Given the description of an element on the screen output the (x, y) to click on. 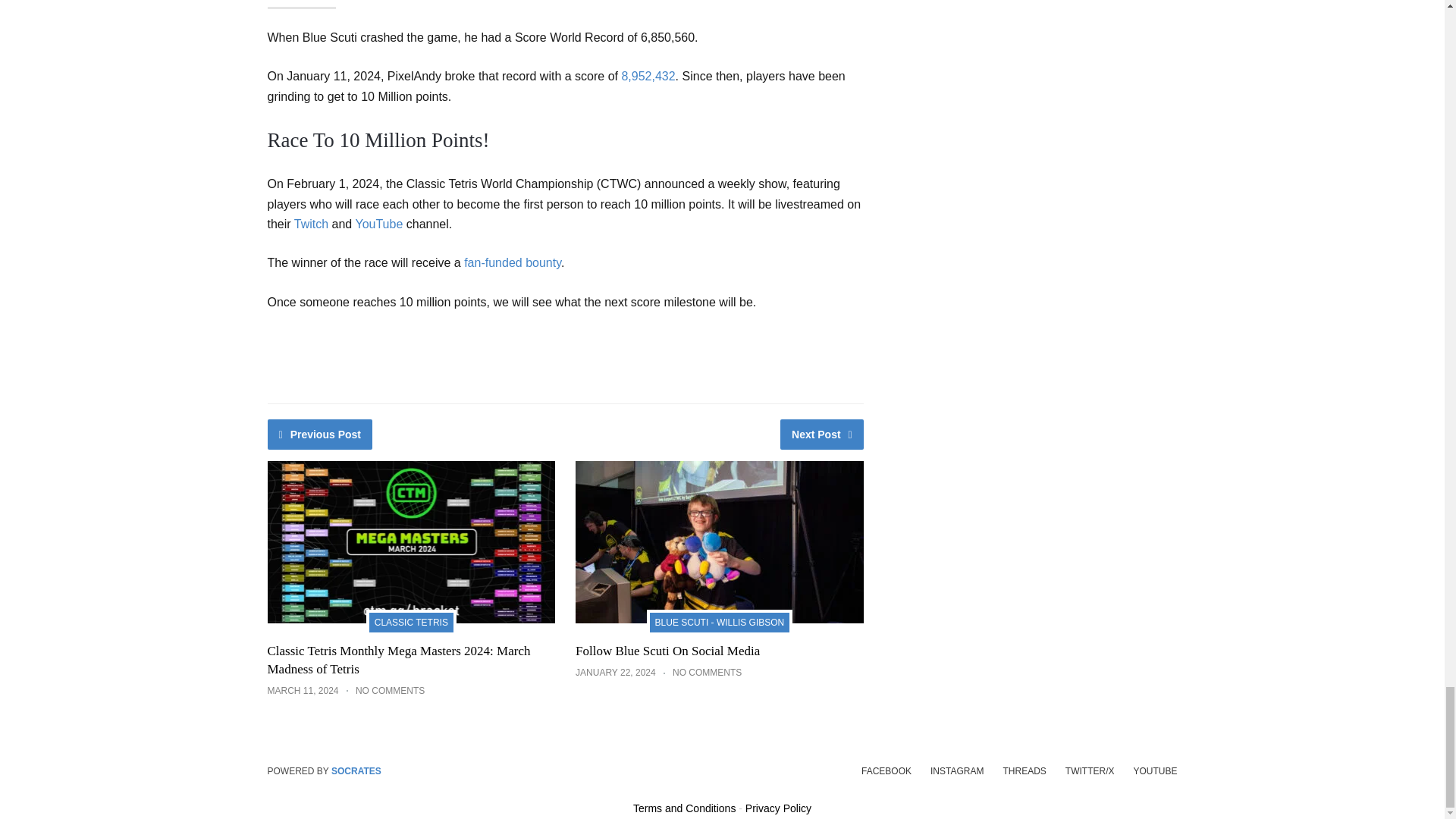
8,952,432 (648, 75)
Follow Blue Scuti On Social Media (667, 650)
Twitch (311, 223)
BLUE SCUTI - WILLIS GIBSON (719, 620)
Previous Post (319, 434)
fan-funded bounty (512, 262)
NO COMMENTS (390, 690)
YouTube (379, 223)
Next Post (821, 434)
